Given the description of an element on the screen output the (x, y) to click on. 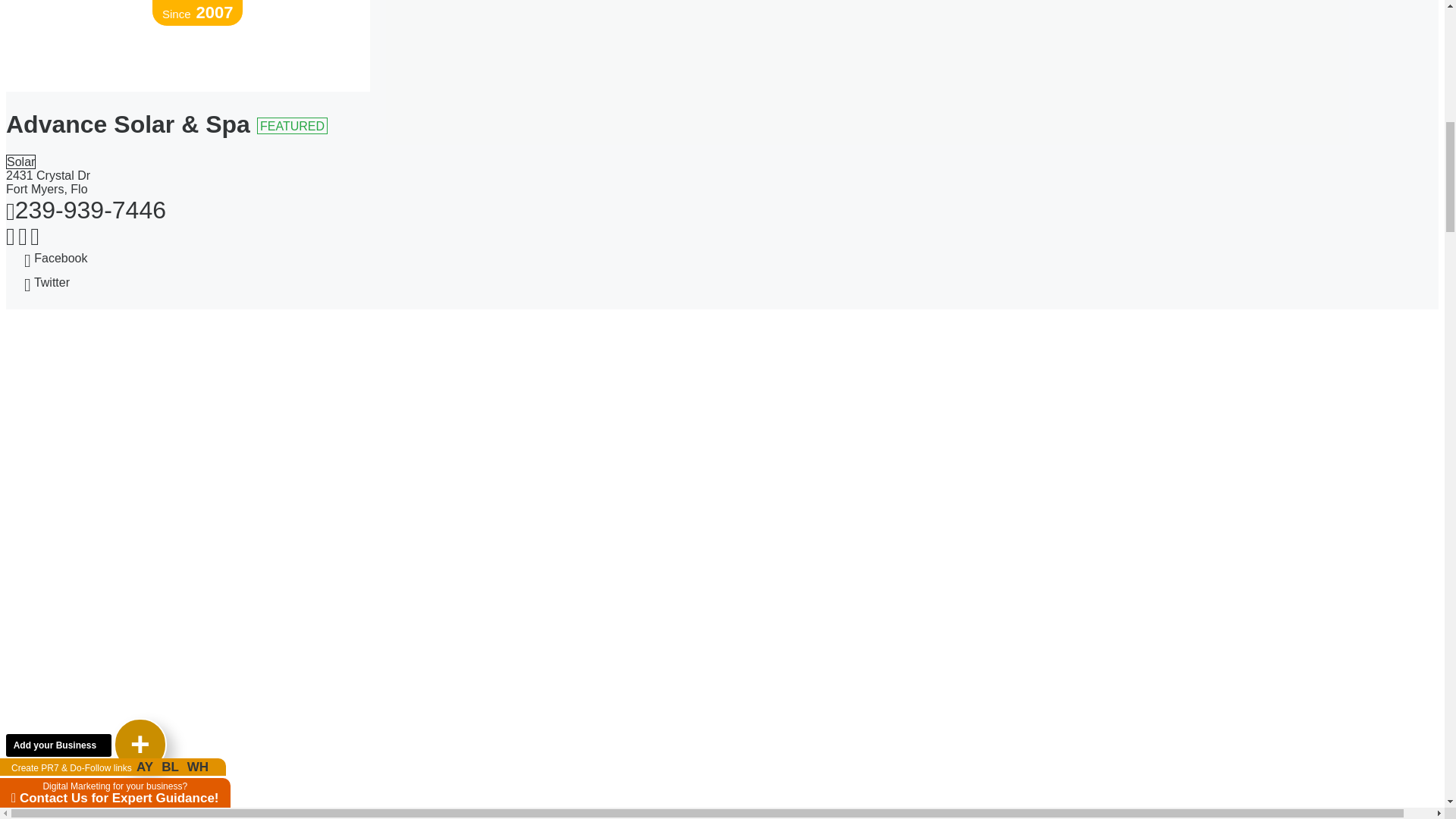
Solar (19, 161)
Twitter (467, 284)
Facebook (467, 260)
239-939-7446 (85, 209)
